Given the description of an element on the screen output the (x, y) to click on. 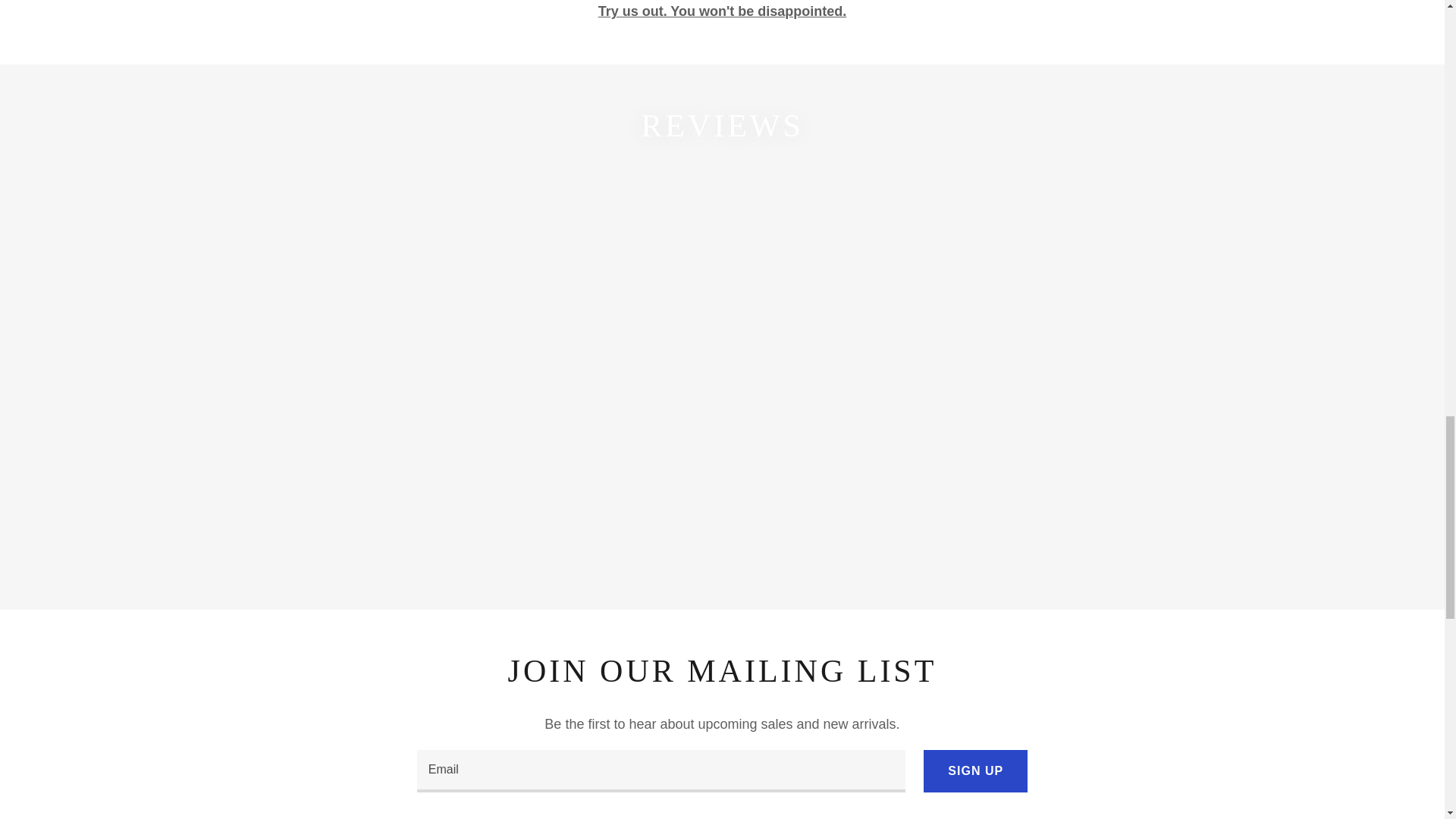
SIGN UP (975, 771)
